Given the description of an element on the screen output the (x, y) to click on. 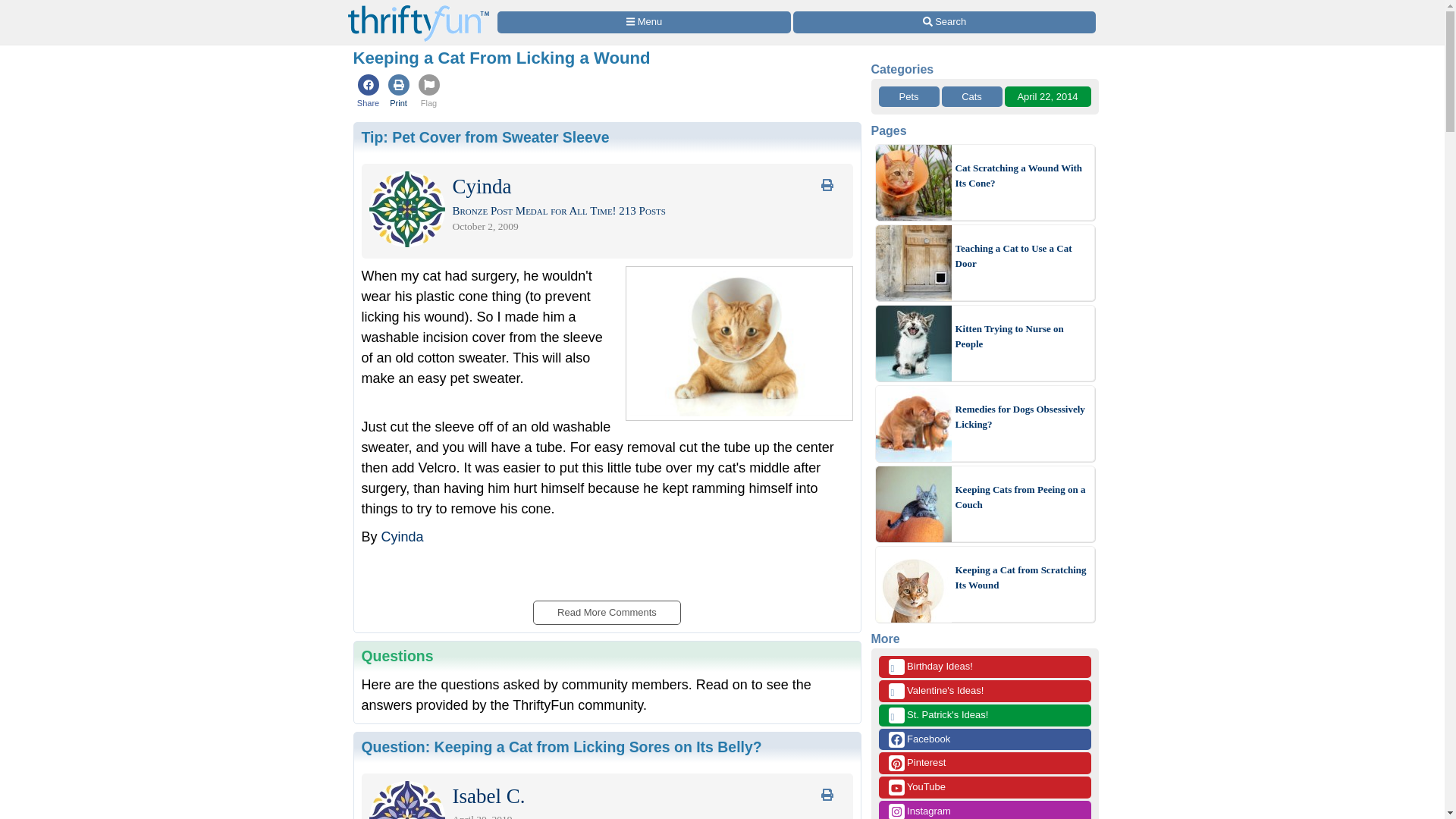
Cyinda (481, 189)
Tip: Pet Cover from Sweater Sleeve (484, 136)
Isabel C. (487, 799)
Cyinda (402, 536)
Read More Comments (605, 607)
